Given the description of an element on the screen output the (x, y) to click on. 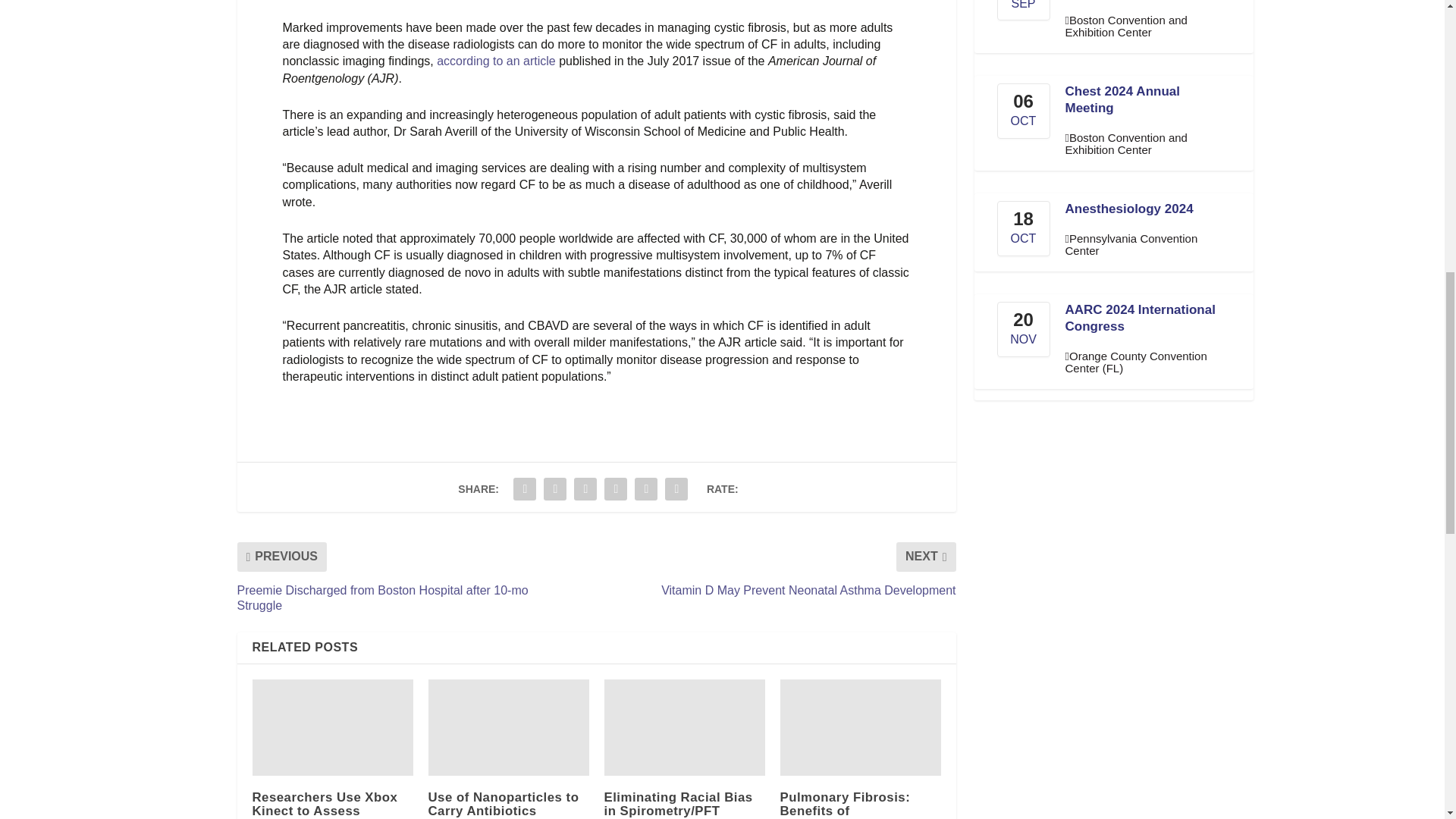
according to an article (496, 60)
Researchers Use Xbox Kinect to Assess Respiratory Function (331, 727)
